Given the description of an element on the screen output the (x, y) to click on. 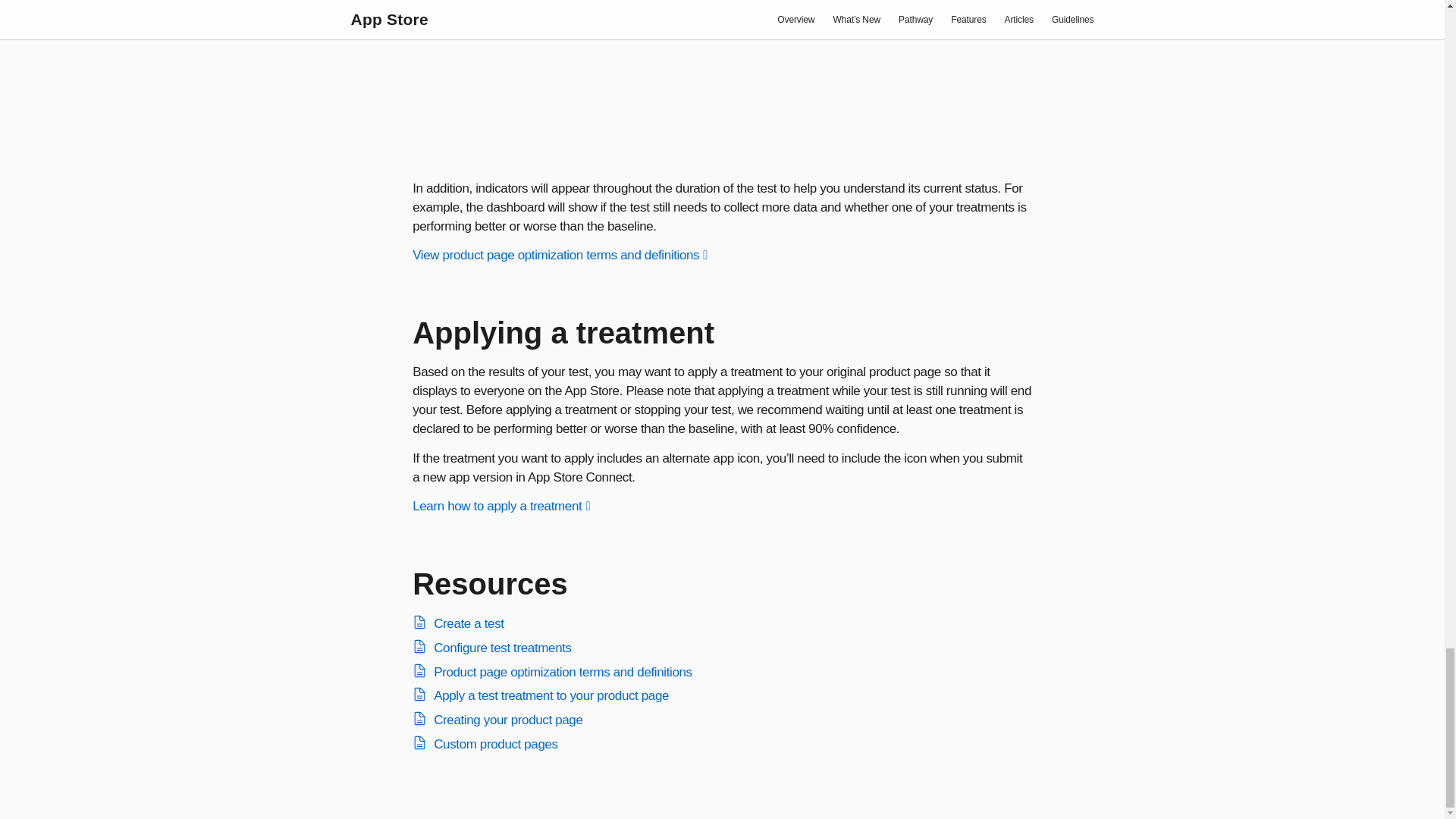
Learn how to apply a treatment (500, 505)
Create a test (468, 623)
View product page optimization terms and definitions (559, 255)
